Given the description of an element on the screen output the (x, y) to click on. 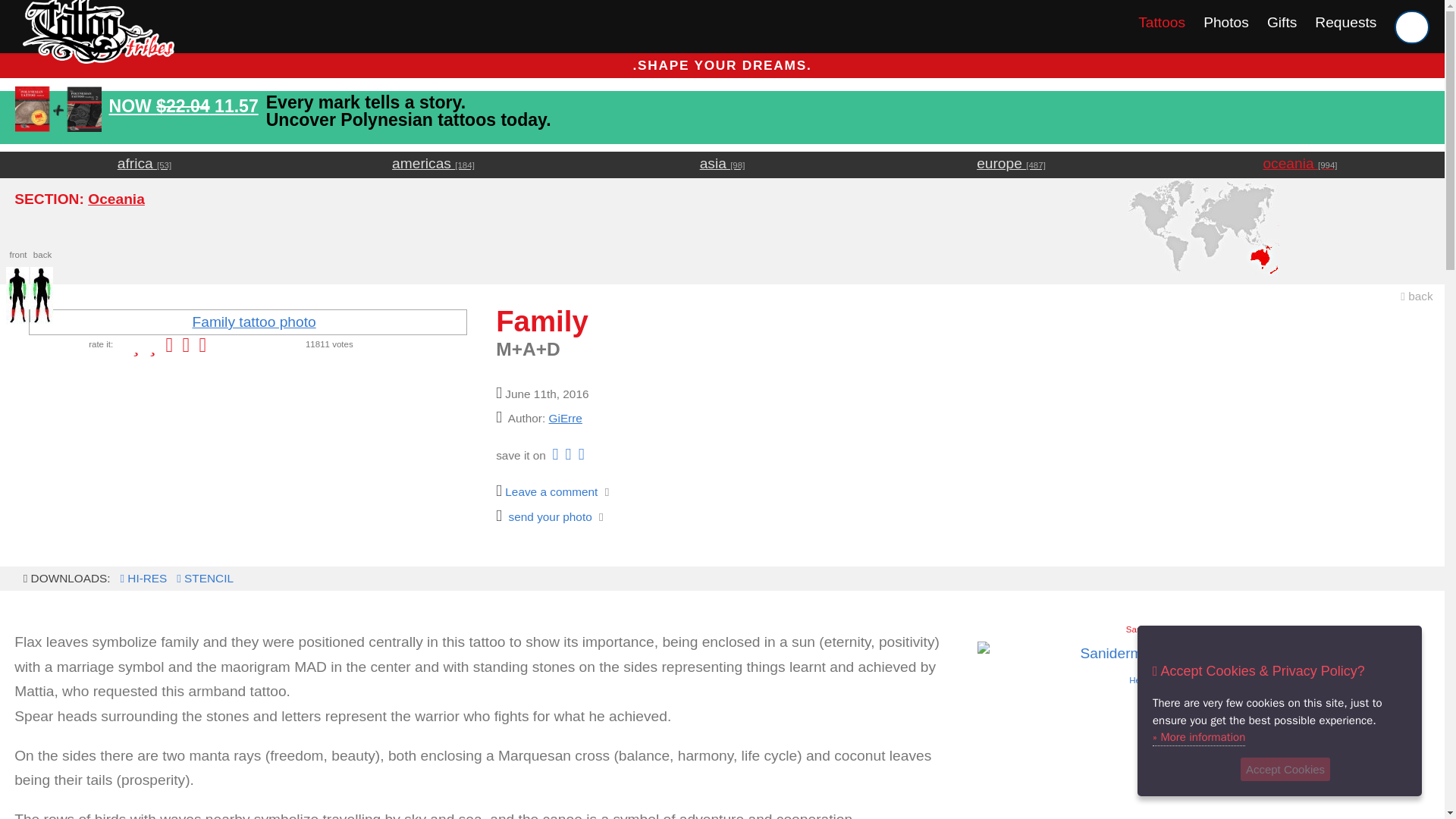
  STENCIL (202, 577)
Tattoos (1161, 22)
Requests (1344, 22)
Read the comments on this tattoo (546, 491)
GiErre (565, 418)
Gifts (1281, 22)
Saniderm Tattoo Aftercare Bandage Roll (1202, 674)
  send your photo (544, 516)
Help your tattoo heal faster and better! (1202, 674)
 Leave a comment (546, 491)
